Given the description of an element on the screen output the (x, y) to click on. 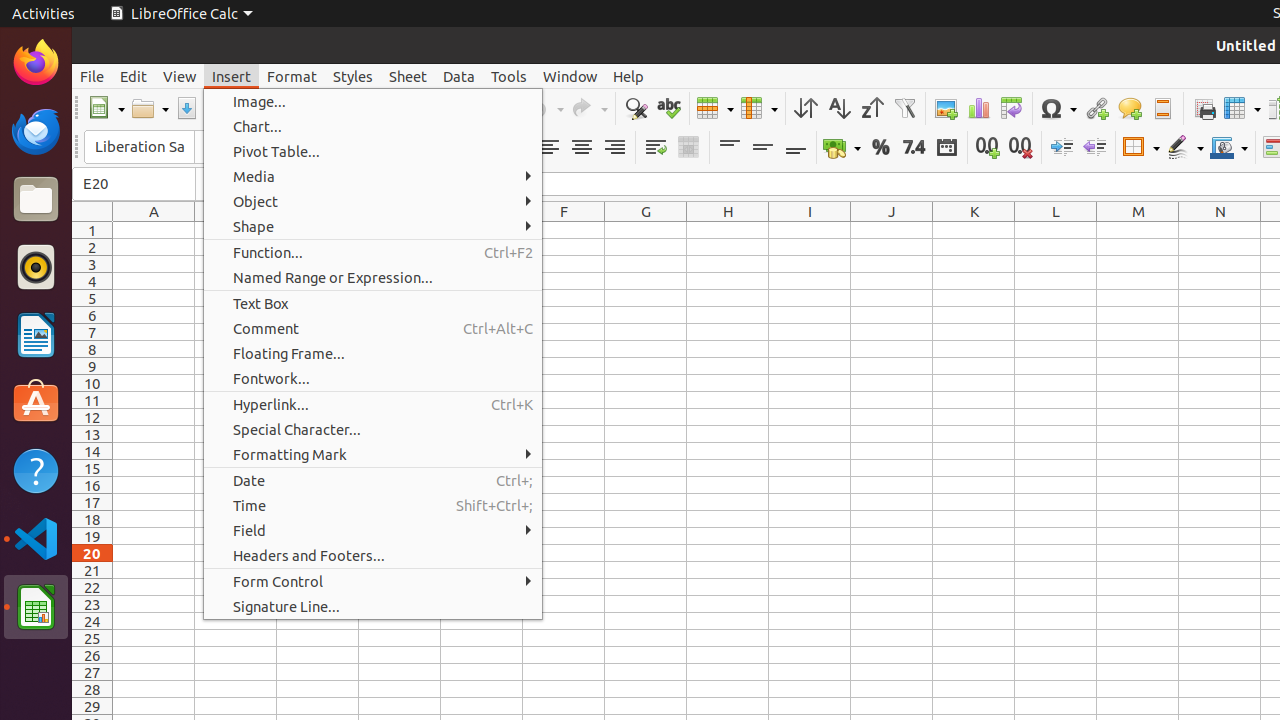
Print Area Element type: push-button (1203, 108)
Wrap Text Element type: push-button (655, 147)
J1 Element type: table-cell (892, 230)
L1 Element type: table-cell (1056, 230)
Headers and Footers Element type: push-button (1162, 108)
